Given the description of an element on the screen output the (x, y) to click on. 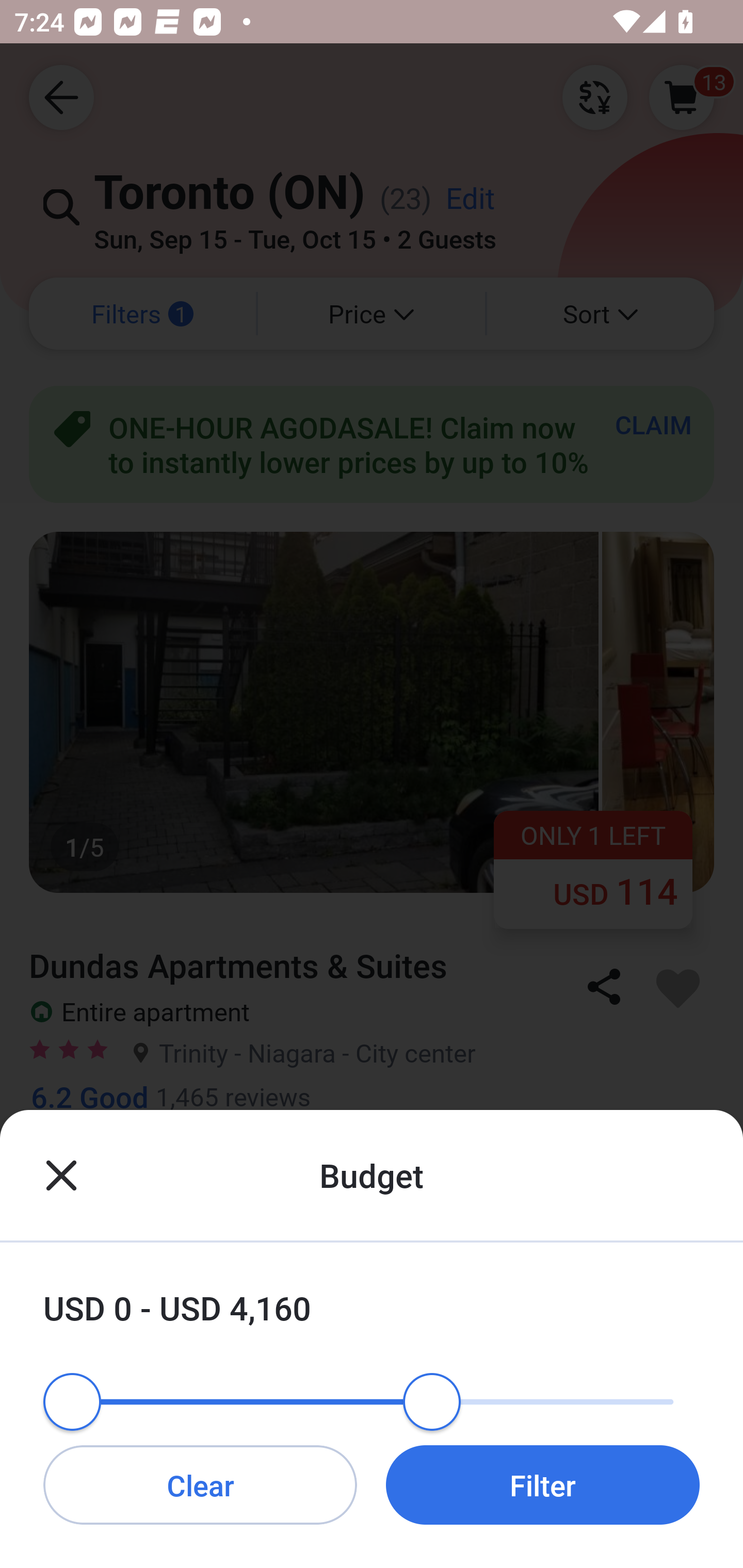
Free cancellation (371, 1182)
Clear (200, 1484)
Filter (542, 1484)
